Given the description of an element on the screen output the (x, y) to click on. 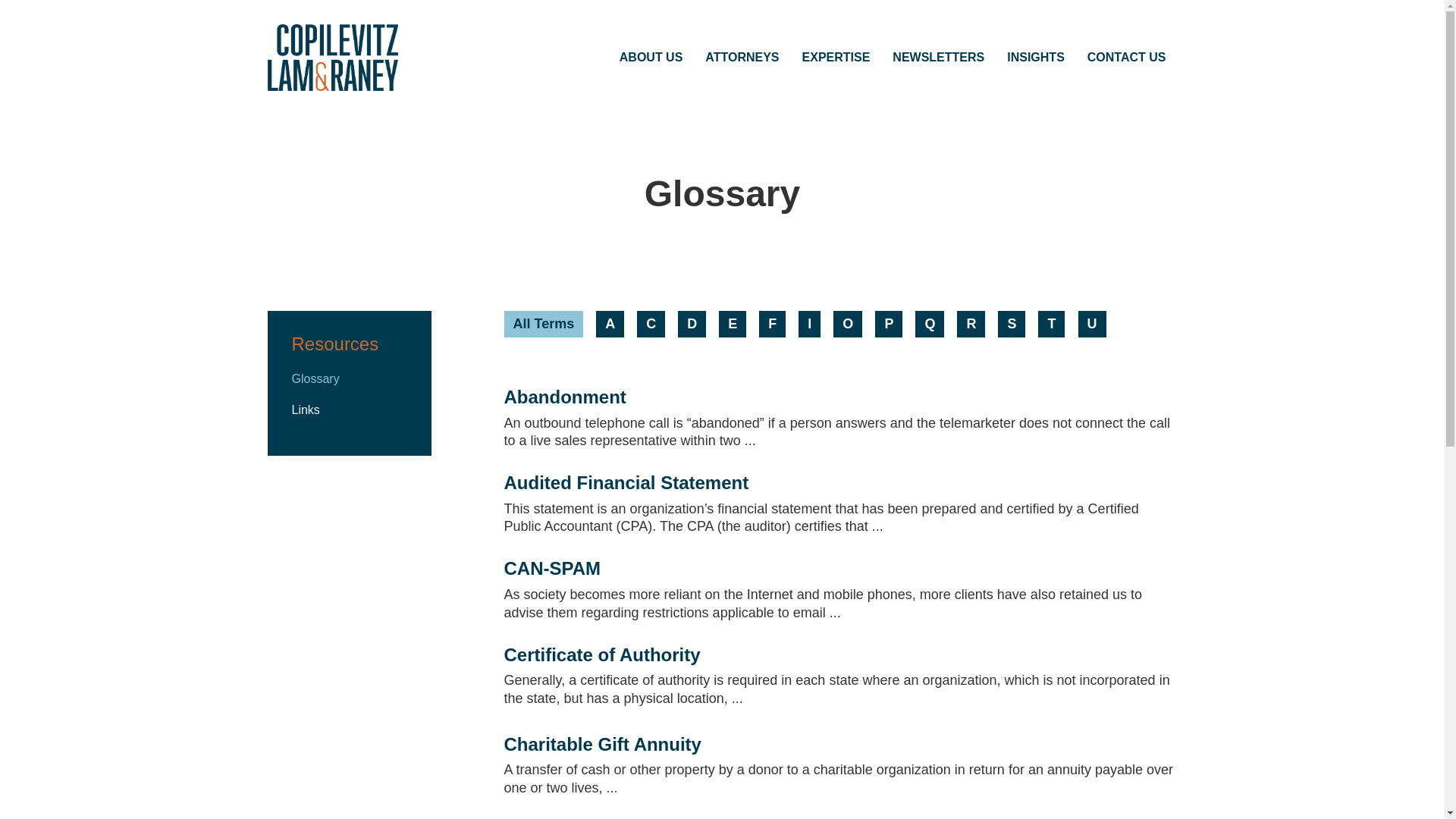
ATTORNEYS (742, 57)
INSIGHTS (1035, 57)
Links (304, 409)
ABOUT US (651, 57)
EXPERTISE (836, 57)
CONTACT US (1126, 57)
NEWSLETTERS (937, 57)
